Given the description of an element on the screen output the (x, y) to click on. 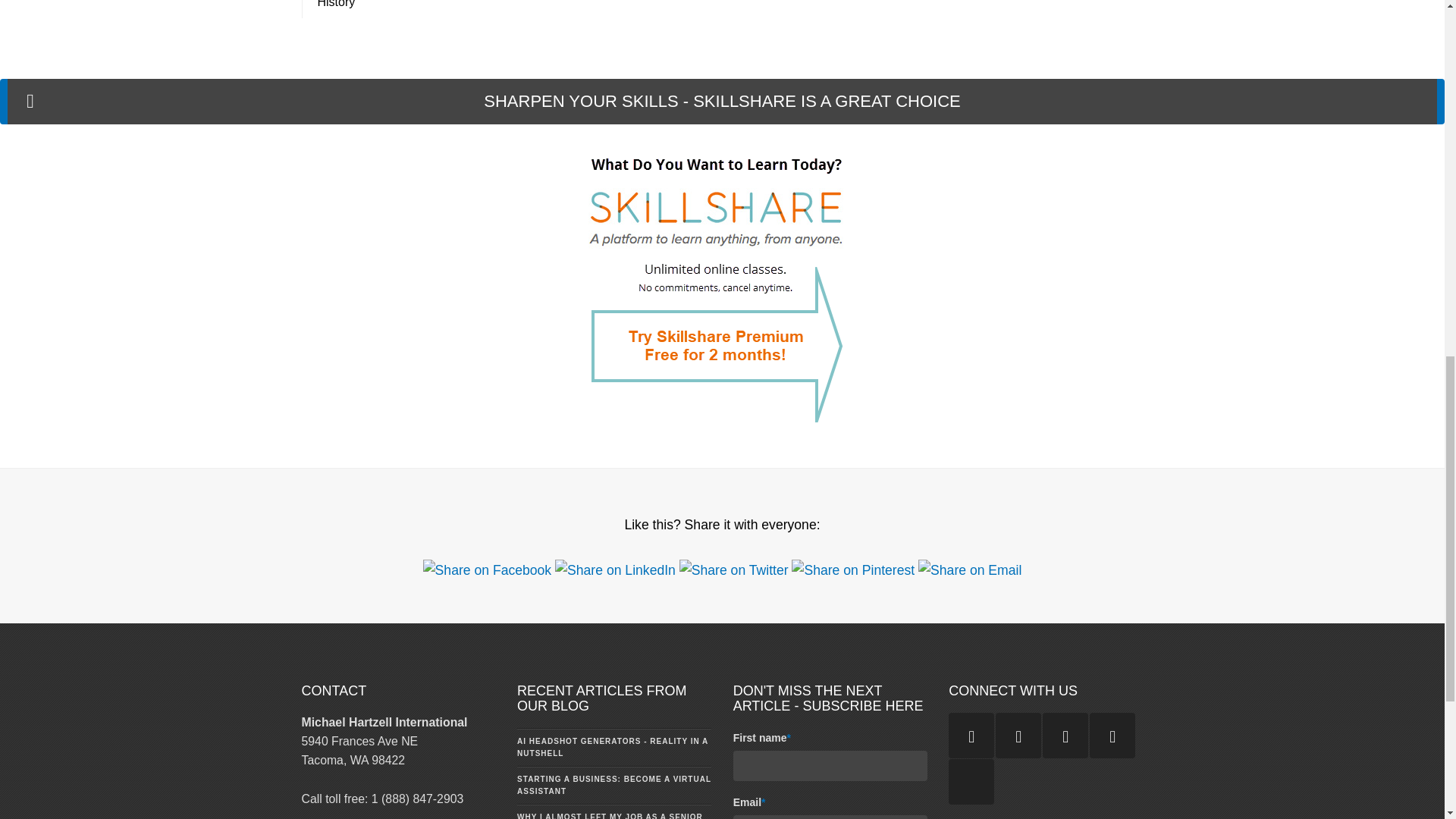
Follow us on Googleplus (971, 781)
Follow us on RSS (971, 735)
skillshare-learn-more-2.png (721, 280)
Follow us on Facebook (1112, 735)
Follow us on Twitter (1064, 735)
Follow us on Linkedin (1018, 735)
History (336, 9)
